Given the description of an element on the screen output the (x, y) to click on. 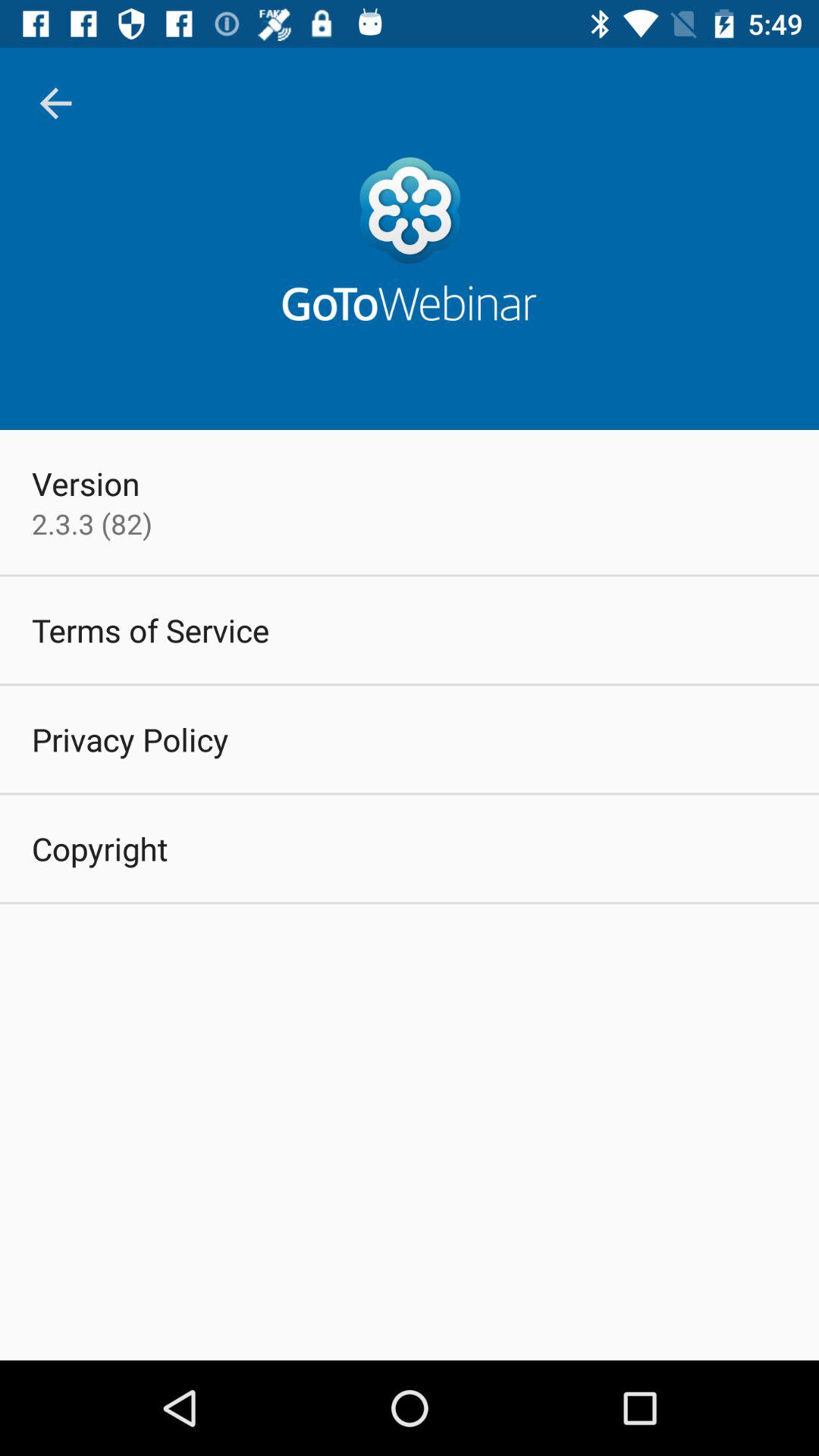
swipe to privacy policy icon (129, 738)
